Given the description of an element on the screen output the (x, y) to click on. 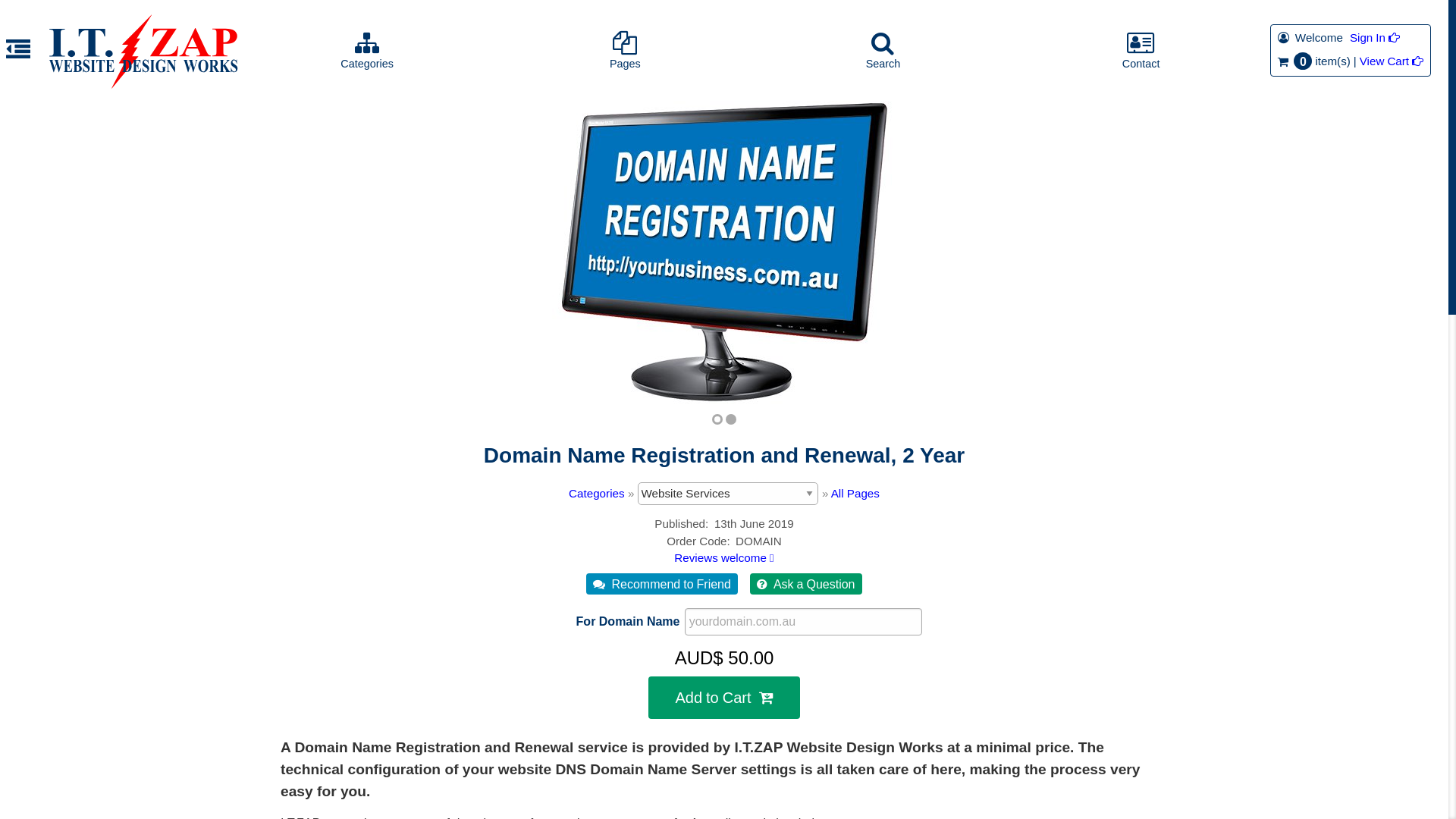
Categories Element type: text (366, 50)
I.T.ZAP home page Element type: hover (143, 51)
Contact Element type: text (1141, 50)
Categories Element type: text (596, 492)
Toggle Menu Sidebar Element type: hover (18, 53)
All Pages Element type: text (855, 492)
Search Element type: text (882, 50)
Pages Element type: text (624, 50)
